Given the description of an element on the screen output the (x, y) to click on. 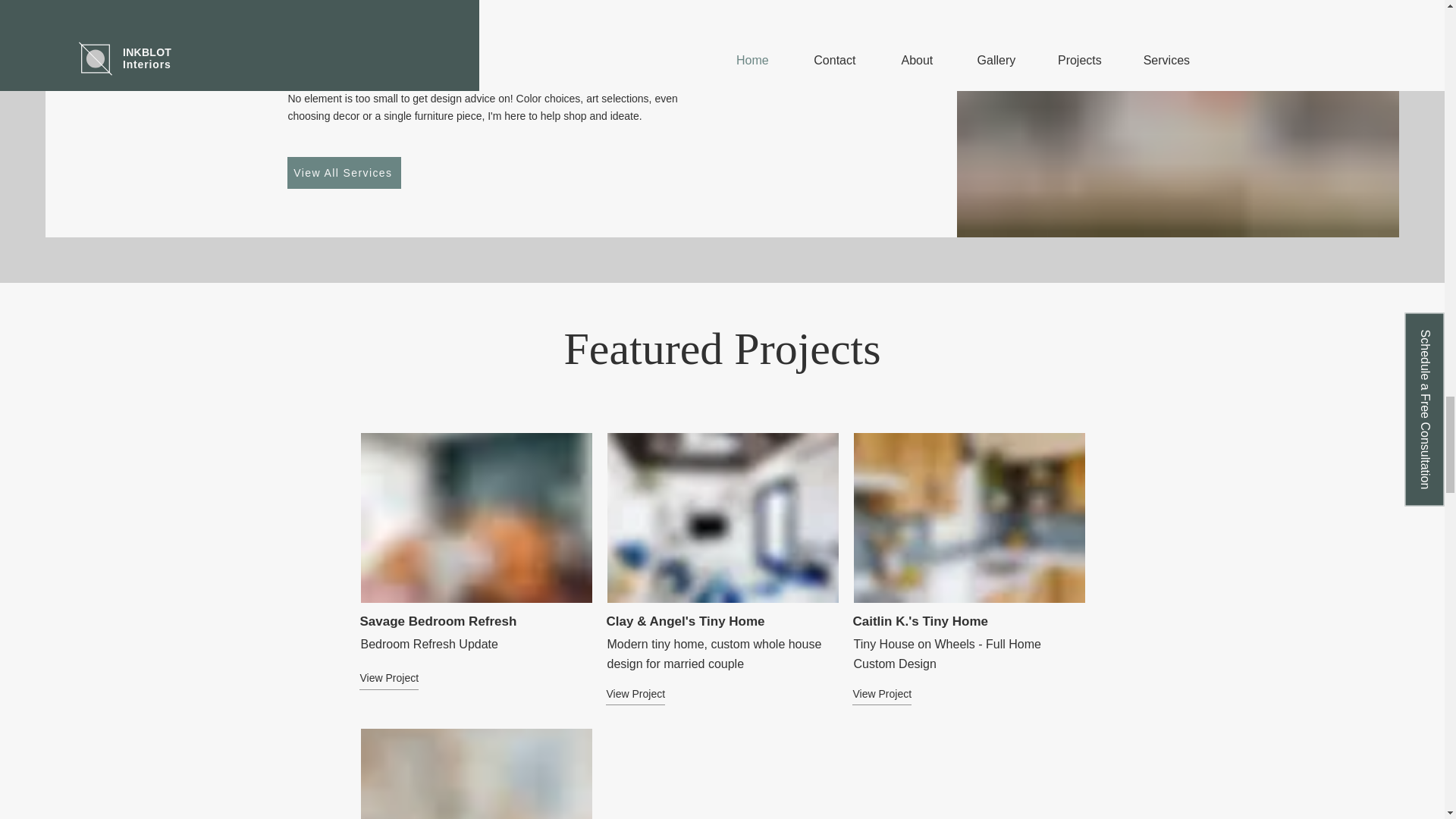
View Project (660, 693)
kay  4f.jpg (476, 773)
clay 2b.jpg (722, 517)
View Project (905, 693)
best bed editd.jpg (476, 517)
cc 18.jpg (968, 517)
View All Services (343, 173)
View Project (413, 678)
